Given the description of an element on the screen output the (x, y) to click on. 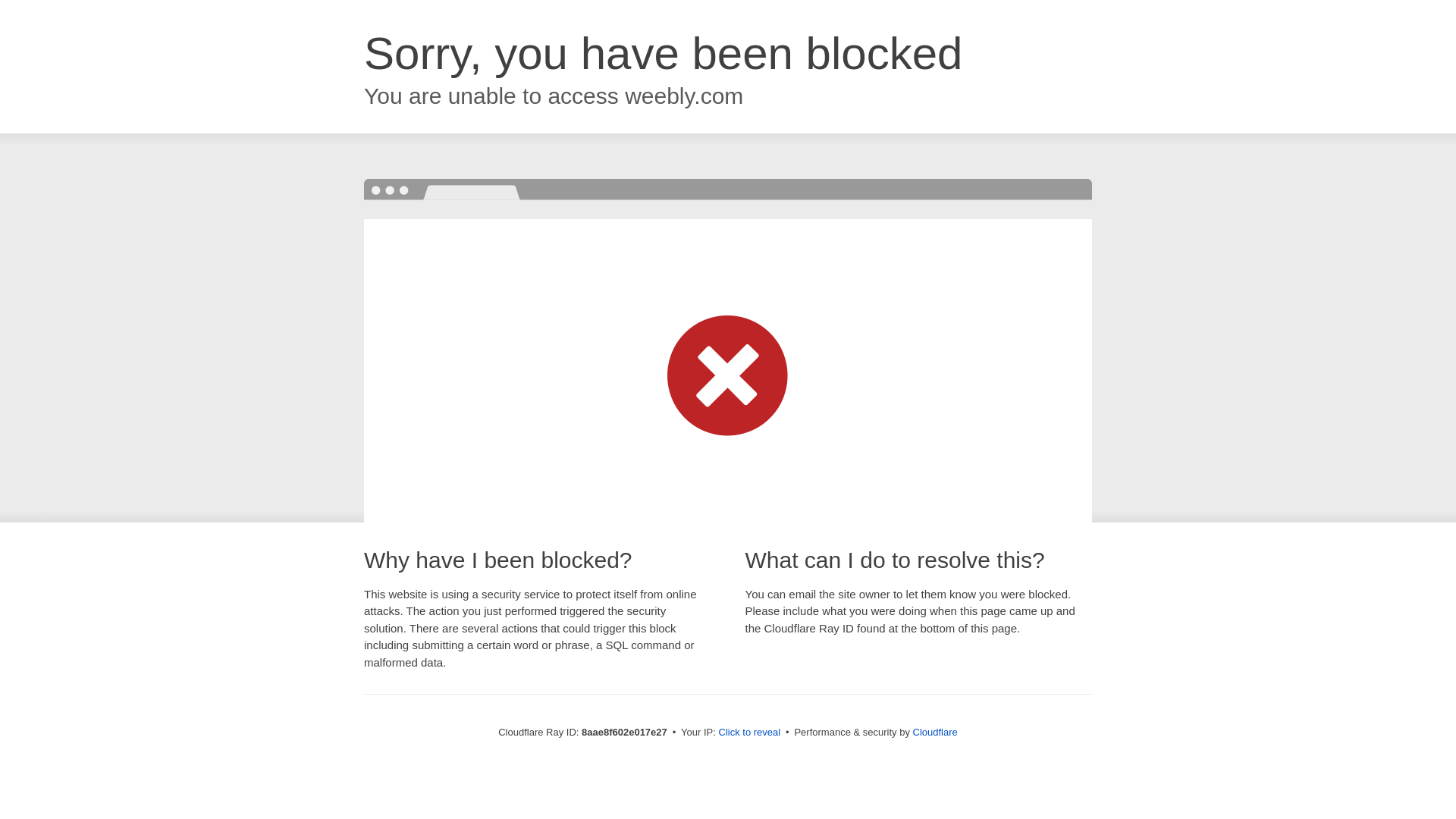
Click to reveal (749, 732)
Cloudflare (935, 731)
